Given the description of an element on the screen output the (x, y) to click on. 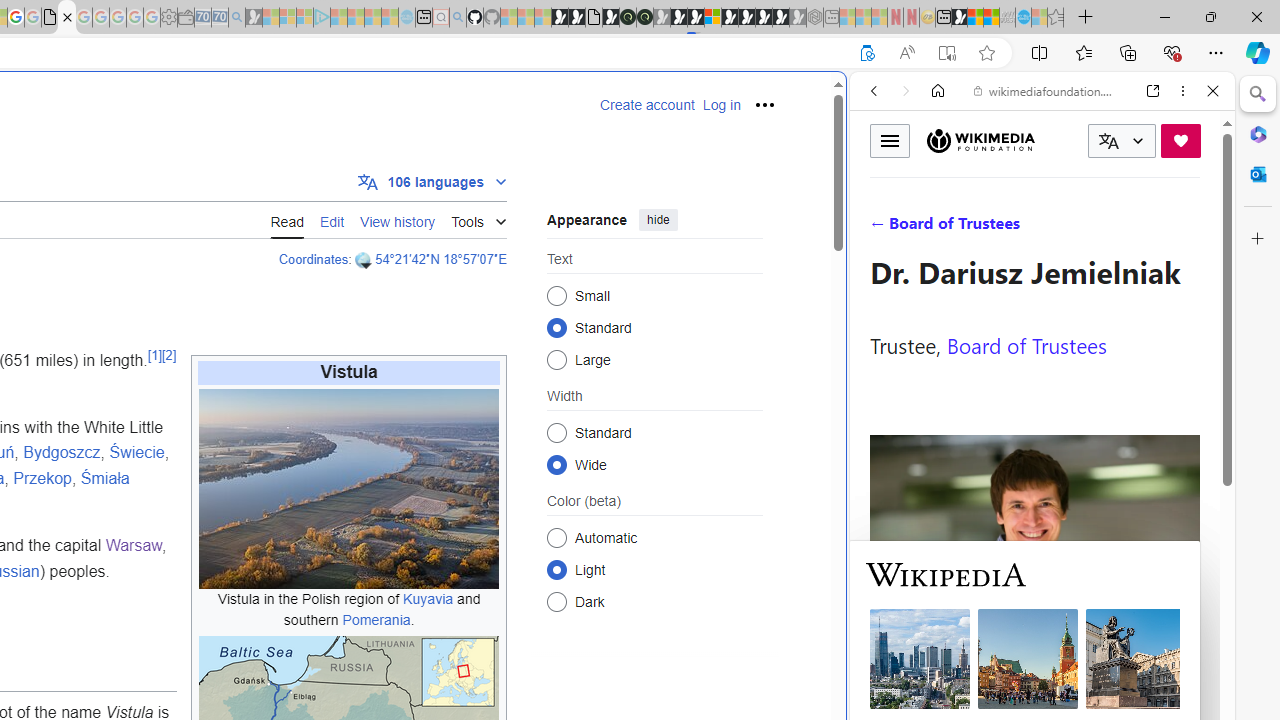
Tabs you've opened (276, 265)
Wikimedia Foundation (980, 140)
Dark (556, 601)
Bing Real Estate - Home sales and rental listings - Sleeping (236, 17)
Log in (721, 105)
Sign in to your account (712, 17)
Class: i icon icon-translate language-switcher__icon (1108, 141)
Donate now (1180, 140)
